Given the description of an element on the screen output the (x, y) to click on. 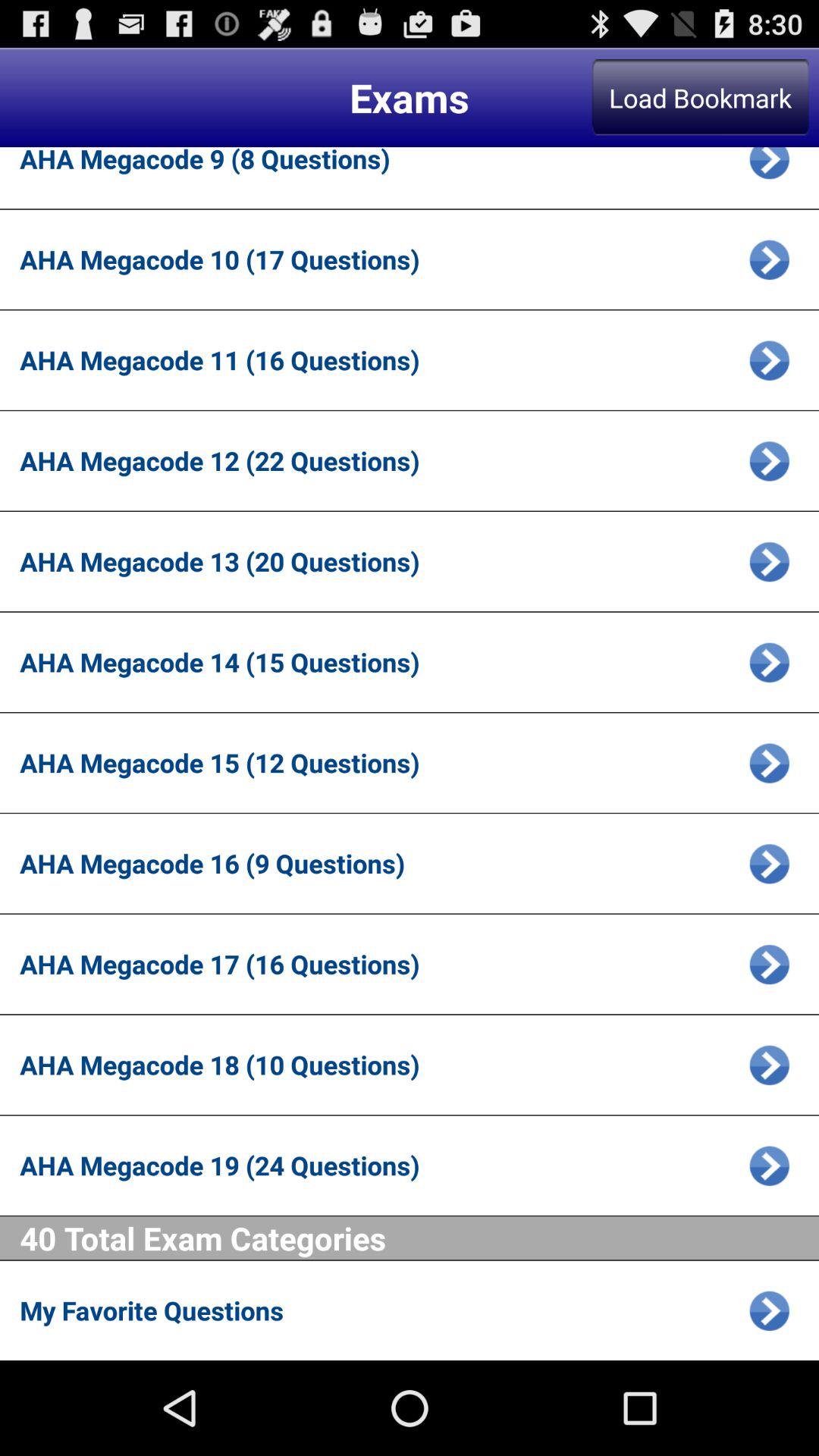
view more details (769, 460)
